Given the description of an element on the screen output the (x, y) to click on. 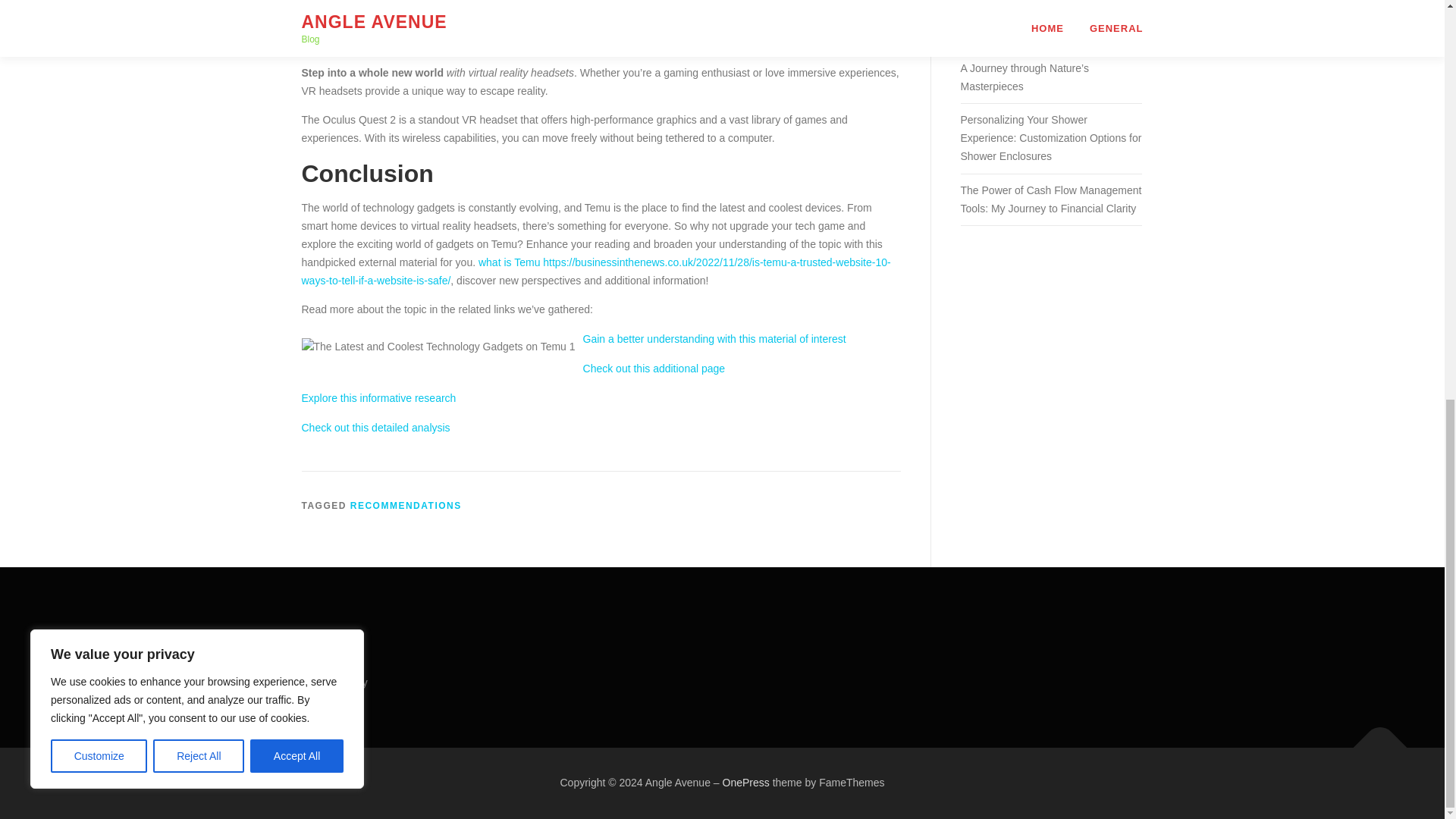
Gain a better understanding with this material of interest (714, 338)
Back To Top (1372, 740)
Explore this informative research (379, 398)
RECOMMENDATIONS (405, 505)
Check out this additional page (654, 368)
Check out this detailed analysis (375, 427)
